Given the description of an element on the screen output the (x, y) to click on. 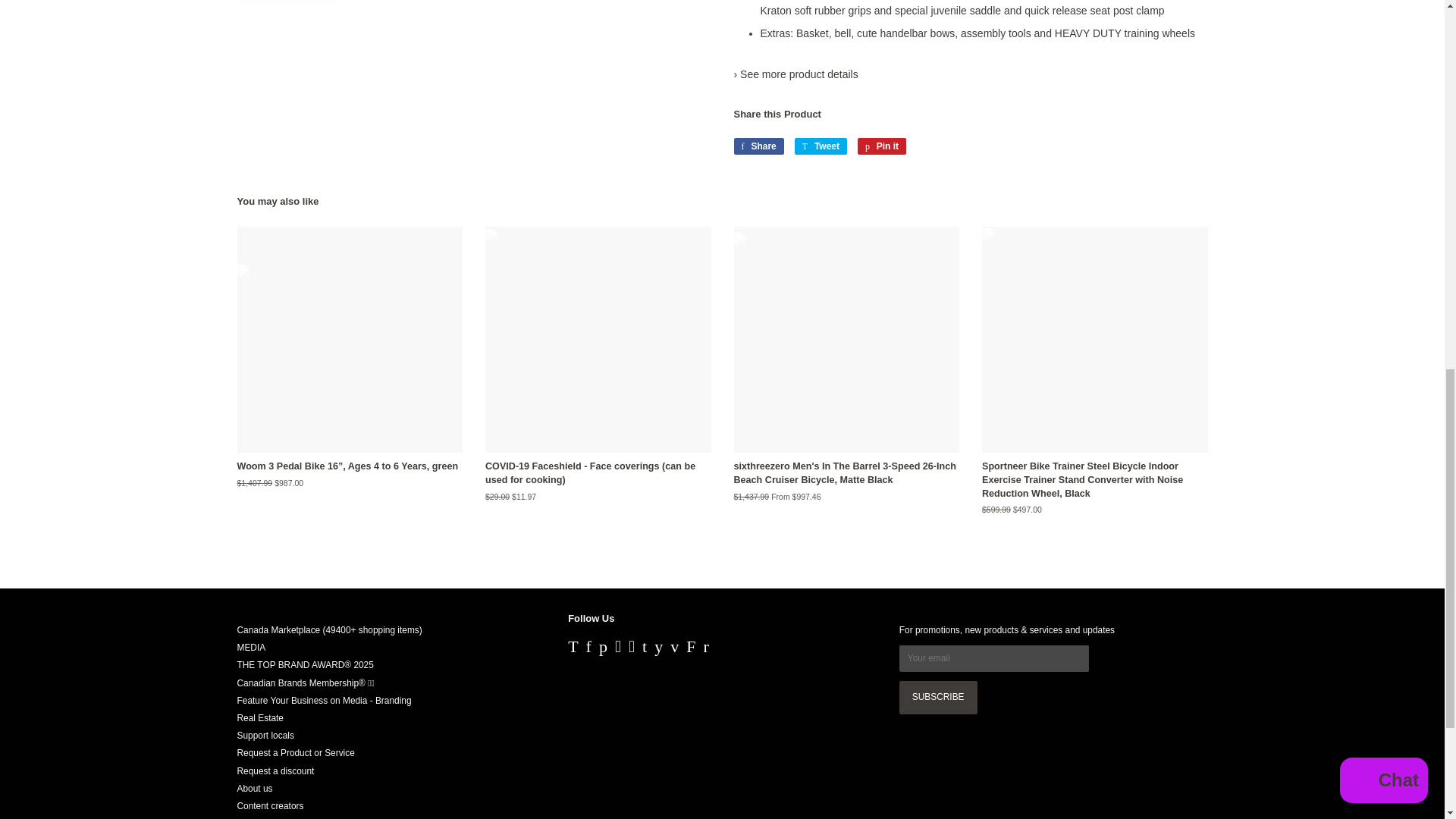
Share on Facebook (758, 146)
Pin on Pinterest (881, 146)
Tweet on Twitter (820, 146)
Subscribe (937, 697)
